Given the description of an element on the screen output the (x, y) to click on. 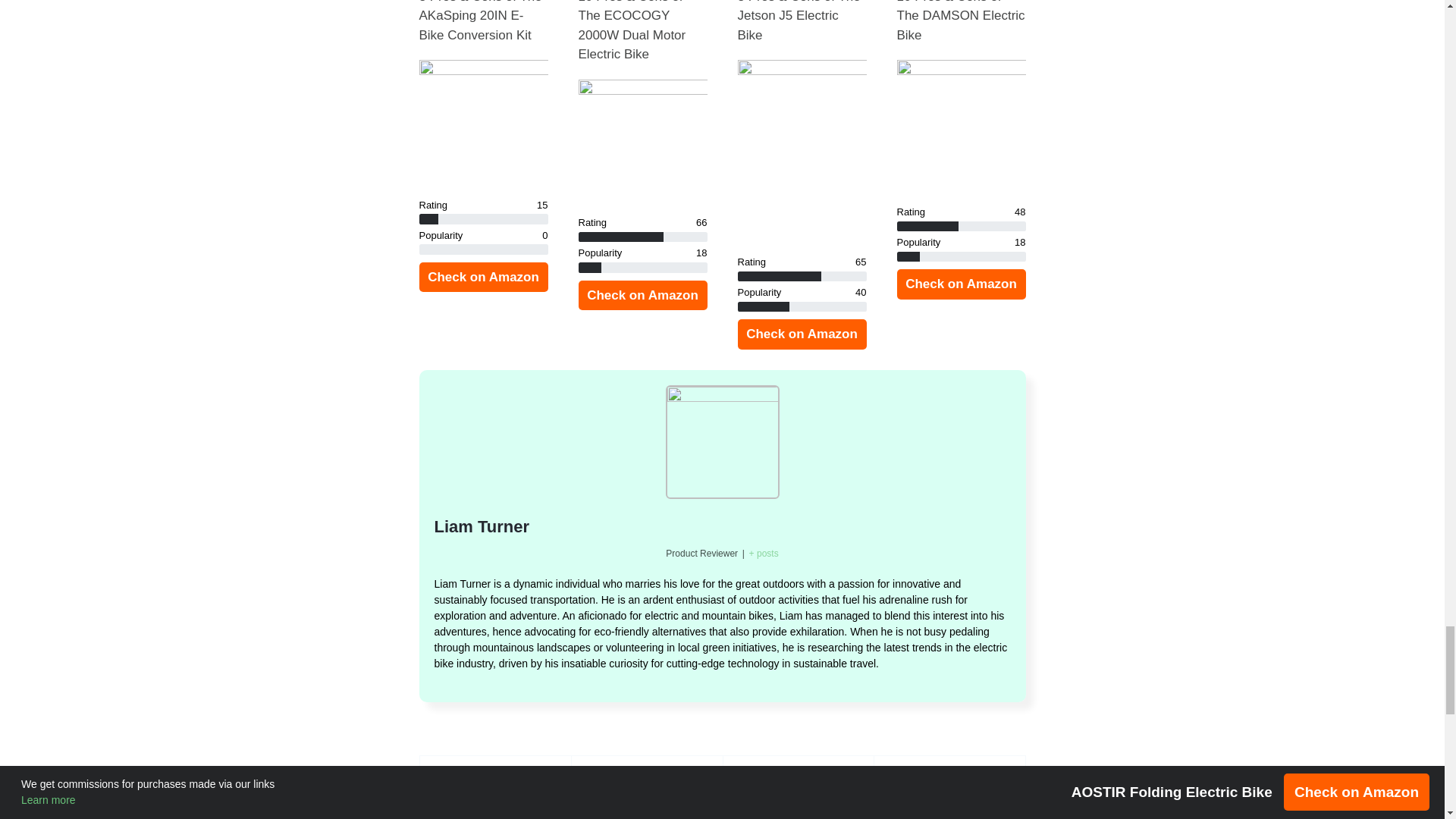
Check on Amazon (642, 295)
Check on Amazon (801, 334)
Check on Amazon (960, 284)
Check on Amazon (483, 277)
